Given the description of an element on the screen output the (x, y) to click on. 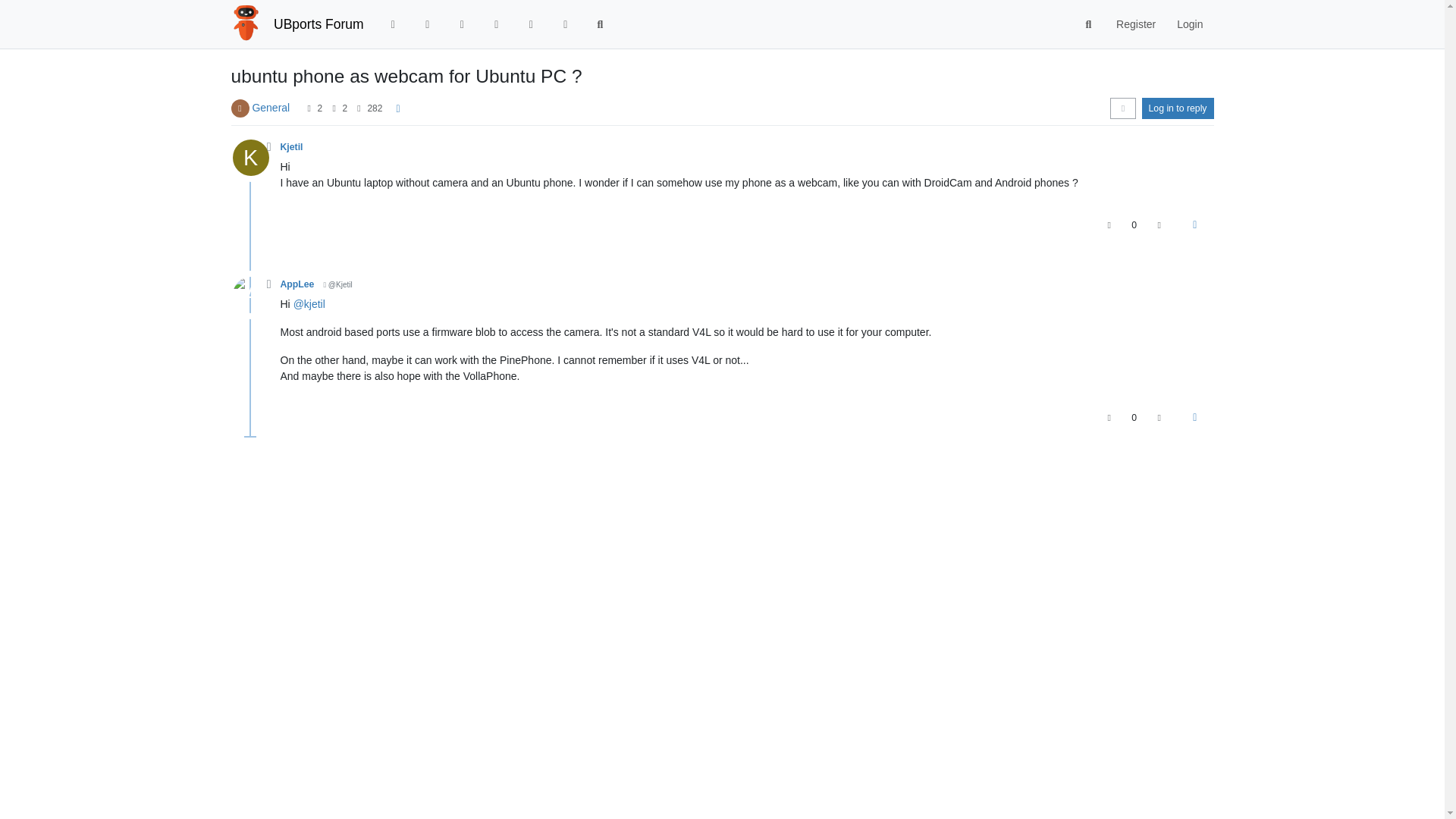
Login (1189, 24)
Users (530, 24)
2 (320, 108)
Kjetil (249, 157)
UBports Forum (318, 24)
Offline (268, 146)
Sort by (1122, 107)
Kjetil (291, 146)
General (270, 107)
282 (373, 108)
Log in to reply (1177, 107)
Categories (392, 24)
Register (1135, 24)
Search (1088, 24)
Popular (496, 24)
